Given the description of an element on the screen output the (x, y) to click on. 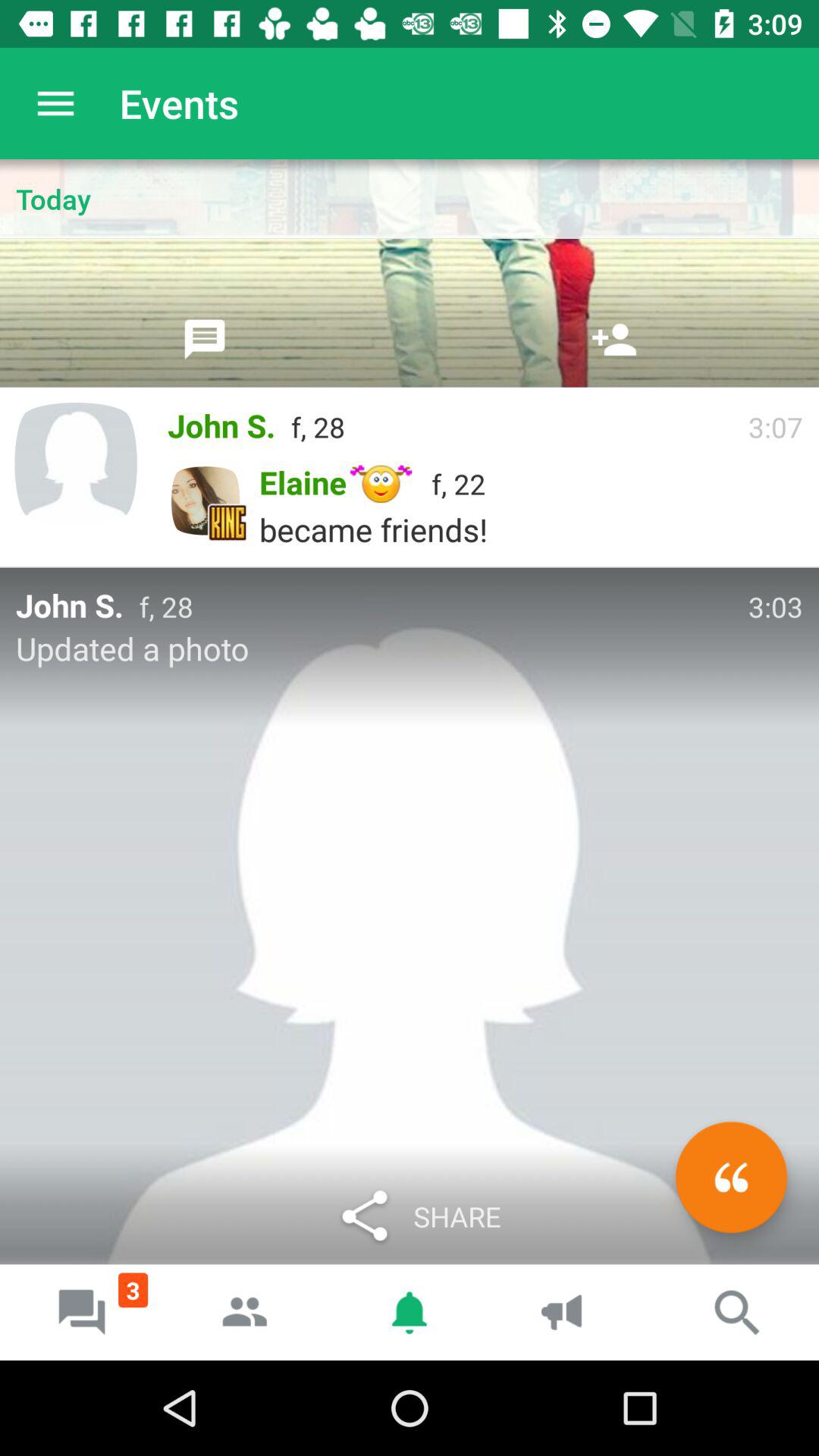
press item below f, 28 (731, 1177)
